Given the description of an element on the screen output the (x, y) to click on. 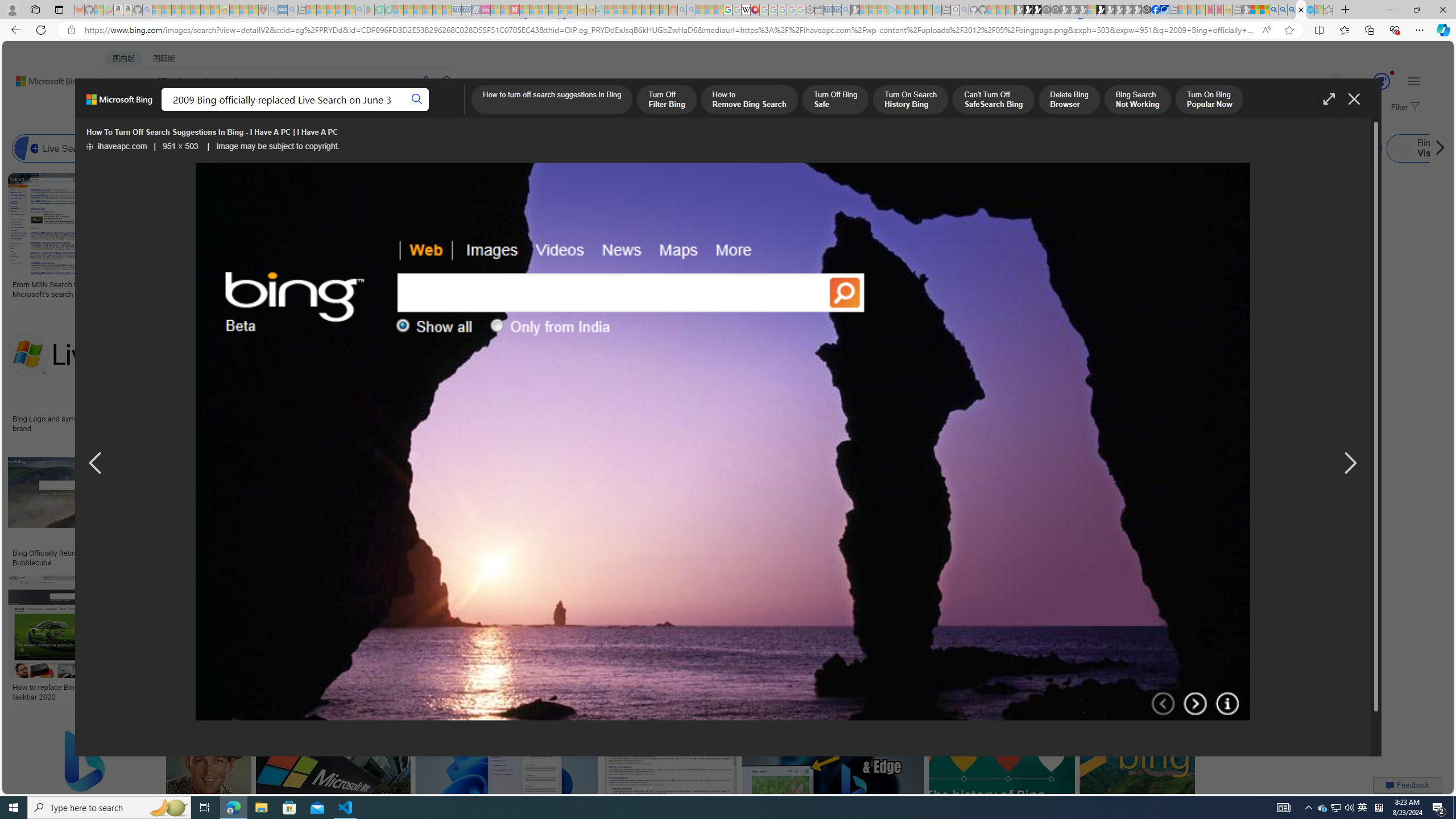
Wallet - Sleeping (818, 9)
Turn Off Filter Bing (666, 100)
Remove the 'News & Interests' bar from Bing | TechLife (857, 419)
Class: b_pri_nav_svg (240, 112)
Bing Picture Search Engine (280, 148)
Microsoft Live Logo (339, 284)
